Given the description of an element on the screen output the (x, y) to click on. 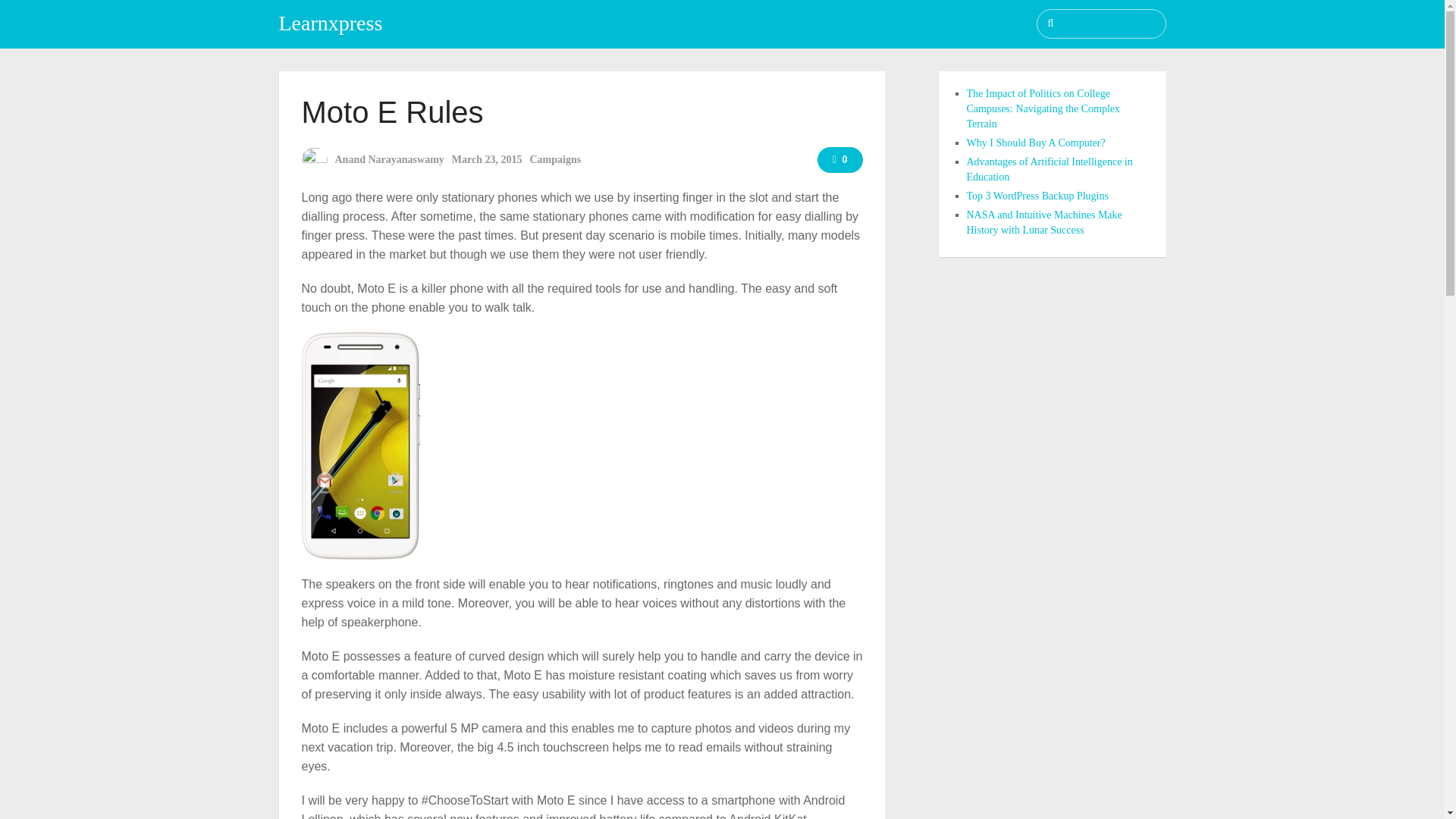
0 (839, 159)
Top 3 WordPress Backup Plugins (1037, 195)
Posts by Anand Narayanaswamy (389, 159)
Why I Should Buy A Computer? (1035, 142)
View all posts in Campaigns (554, 159)
Advantages of Artificial Intelligence in Education (1049, 169)
Campaigns (554, 159)
NASA and Intuitive Machines Make History with Lunar Success (1043, 222)
Anand Narayanaswamy (389, 159)
